Given the description of an element on the screen output the (x, y) to click on. 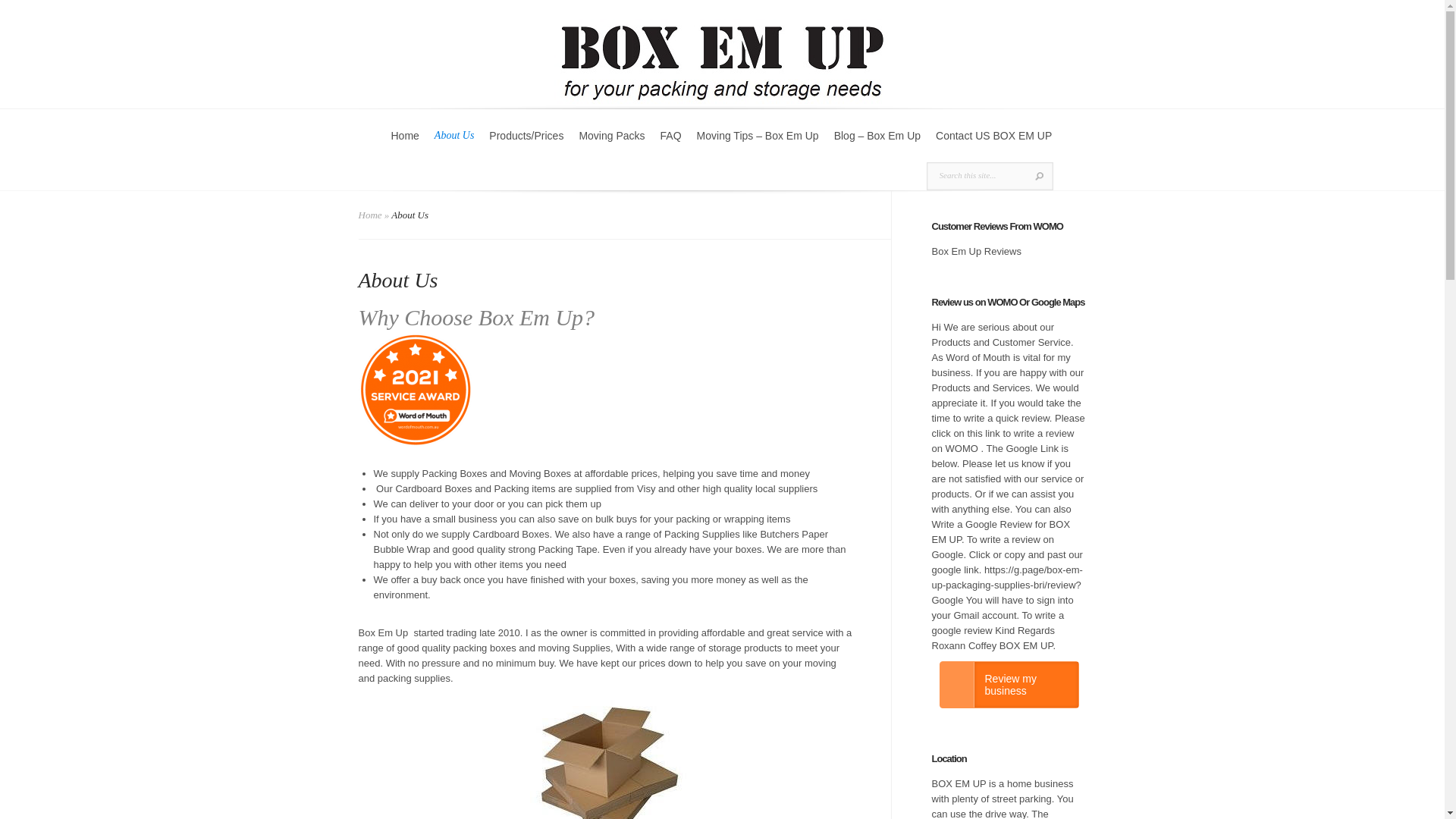
Home (369, 214)
Contact US BOX EM UP (993, 144)
About Us (453, 144)
BOX EM UP Relocation Supplies Brisbane (604, 756)
Search this site... (979, 174)
Moving Packs (611, 144)
FAQ (670, 144)
Home (405, 144)
Box Em Up Reviews (1008, 251)
